Given the description of an element on the screen output the (x, y) to click on. 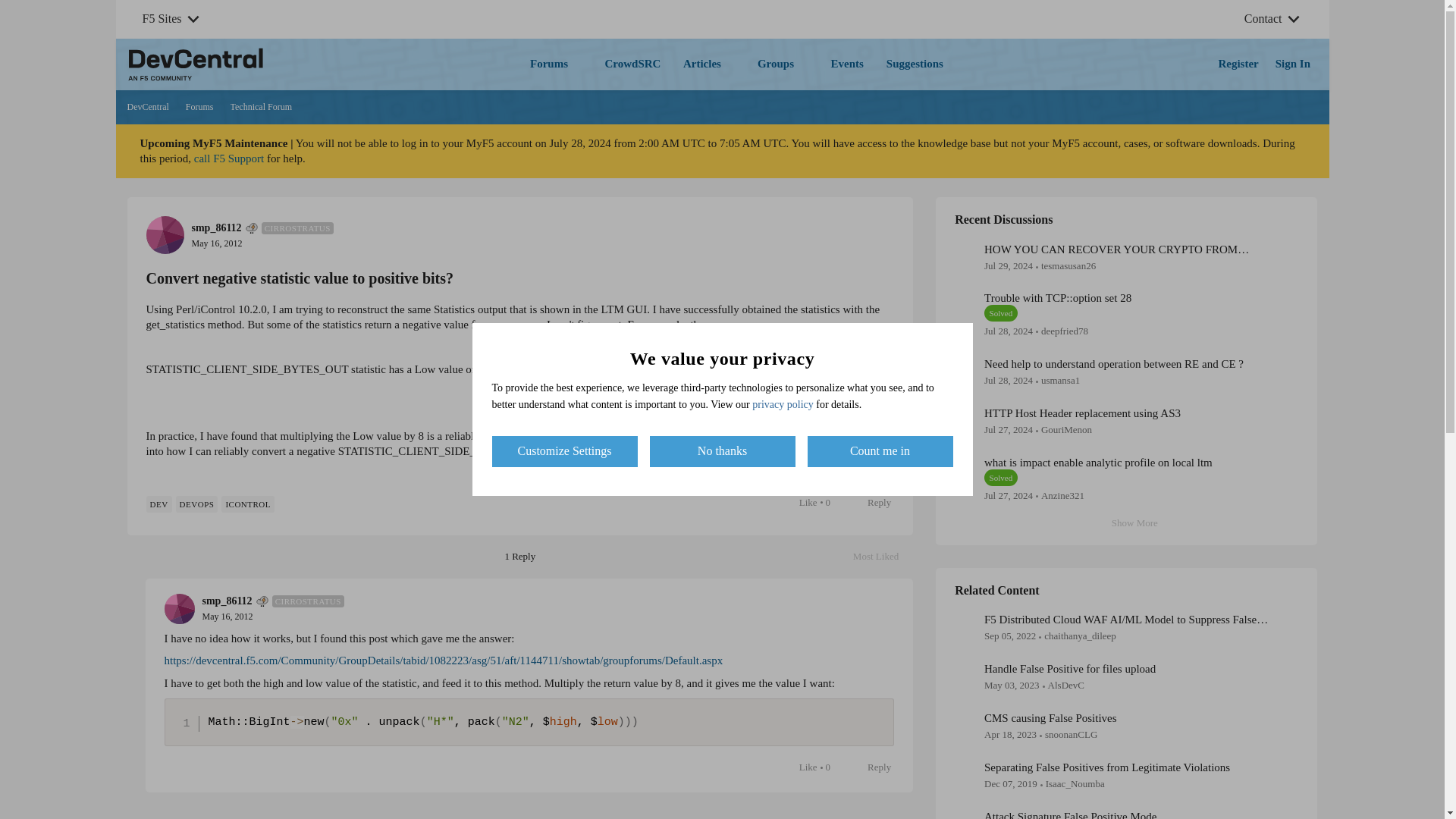
May 3, 2023 at 9:38 AM (1011, 685)
July 28, 2024 at 7:00 AM (1008, 379)
DEV (158, 504)
HTTP Host Header replacement using AS3 (1082, 413)
Reply (870, 502)
CMS causing False Positives (1050, 717)
call F5 Support (882, 556)
Trouble with TCP::option set 28 (228, 158)
May 15, 2012 at 8:13 PM (1057, 297)
April 18, 2023 at 2:47 PM (215, 243)
May 16, 2012 at 11:35 PM (1010, 734)
July 27, 2024 at 2:29 PM (226, 615)
Forums (1008, 494)
Technical Forum (200, 107)
